Given the description of an element on the screen output the (x, y) to click on. 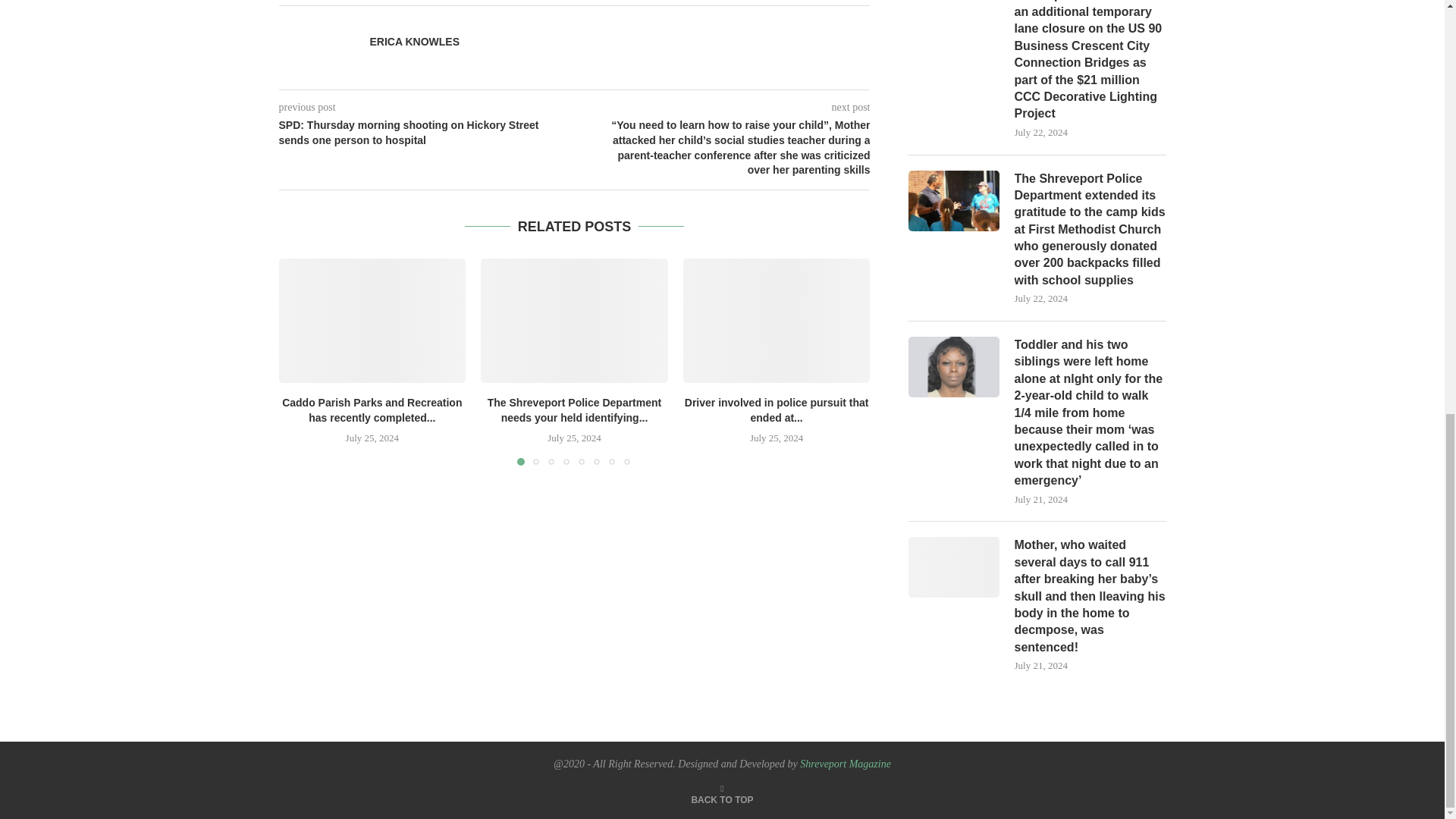
ERICA KNOWLES (414, 42)
Caddo Parish Parks and Recreation has recently completed... (371, 410)
Author Erica Knowles (414, 42)
Driver involved in police pursuit that ended at... (776, 410)
